Given the description of an element on the screen output the (x, y) to click on. 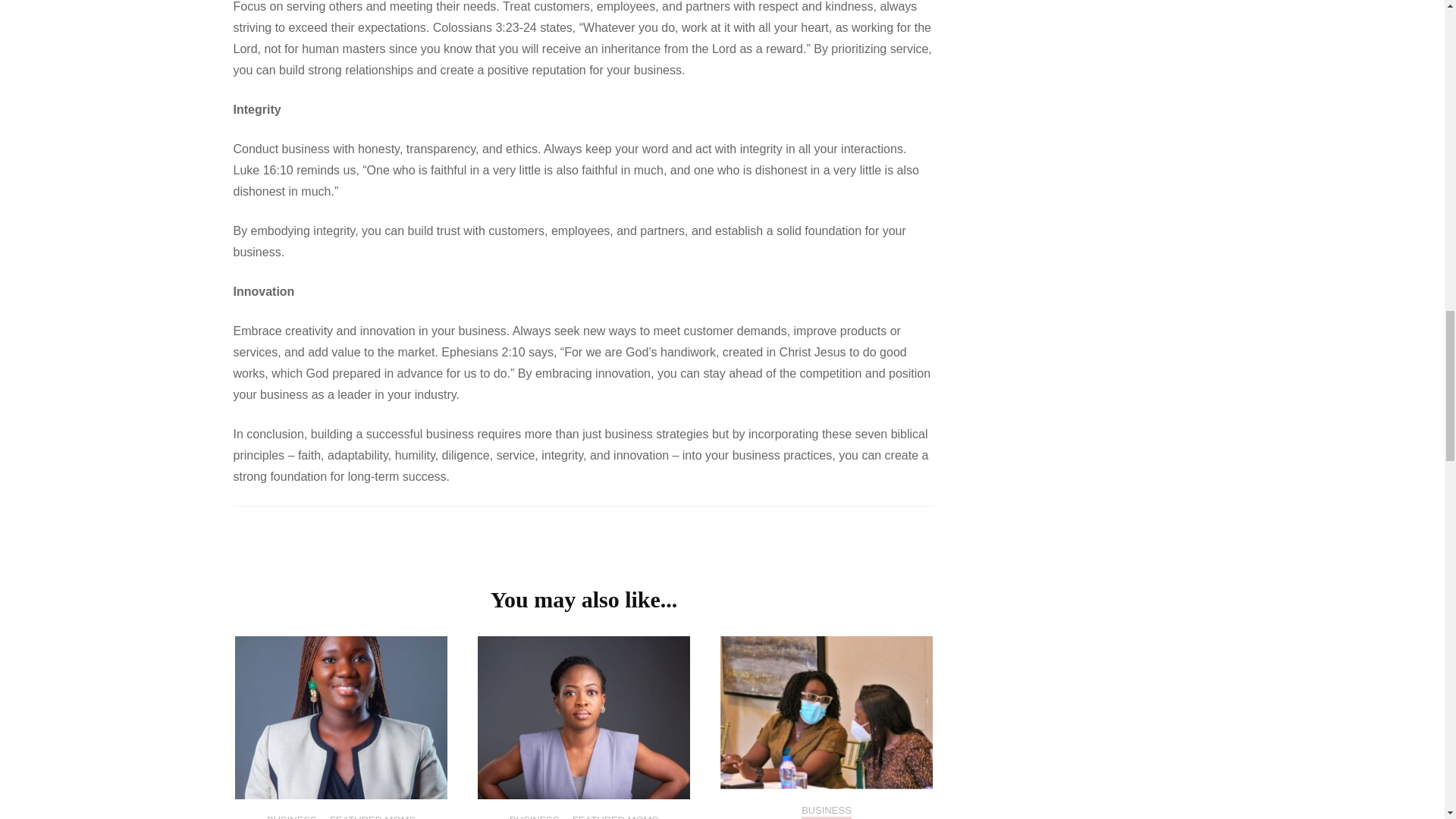
BUSINESS (534, 816)
BUSINESS (291, 816)
FEATURED MOMS (372, 816)
FEATURED MOMS (615, 816)
